Given the description of an element on the screen output the (x, y) to click on. 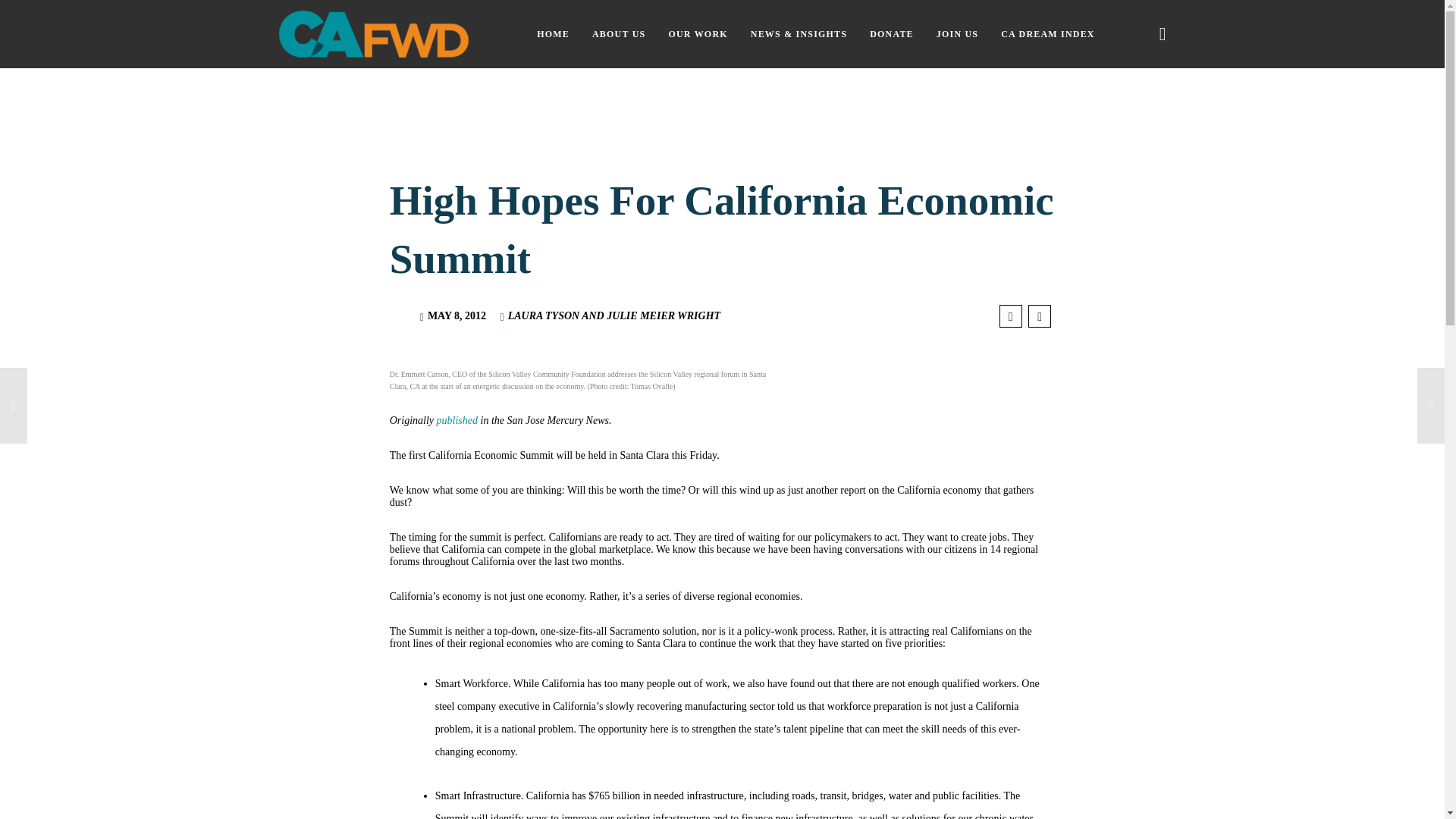
California Forward (373, 33)
High hopes for California Economic Summit (1039, 315)
High hopes for California Economic Summit (1010, 315)
